Given the description of an element on the screen output the (x, y) to click on. 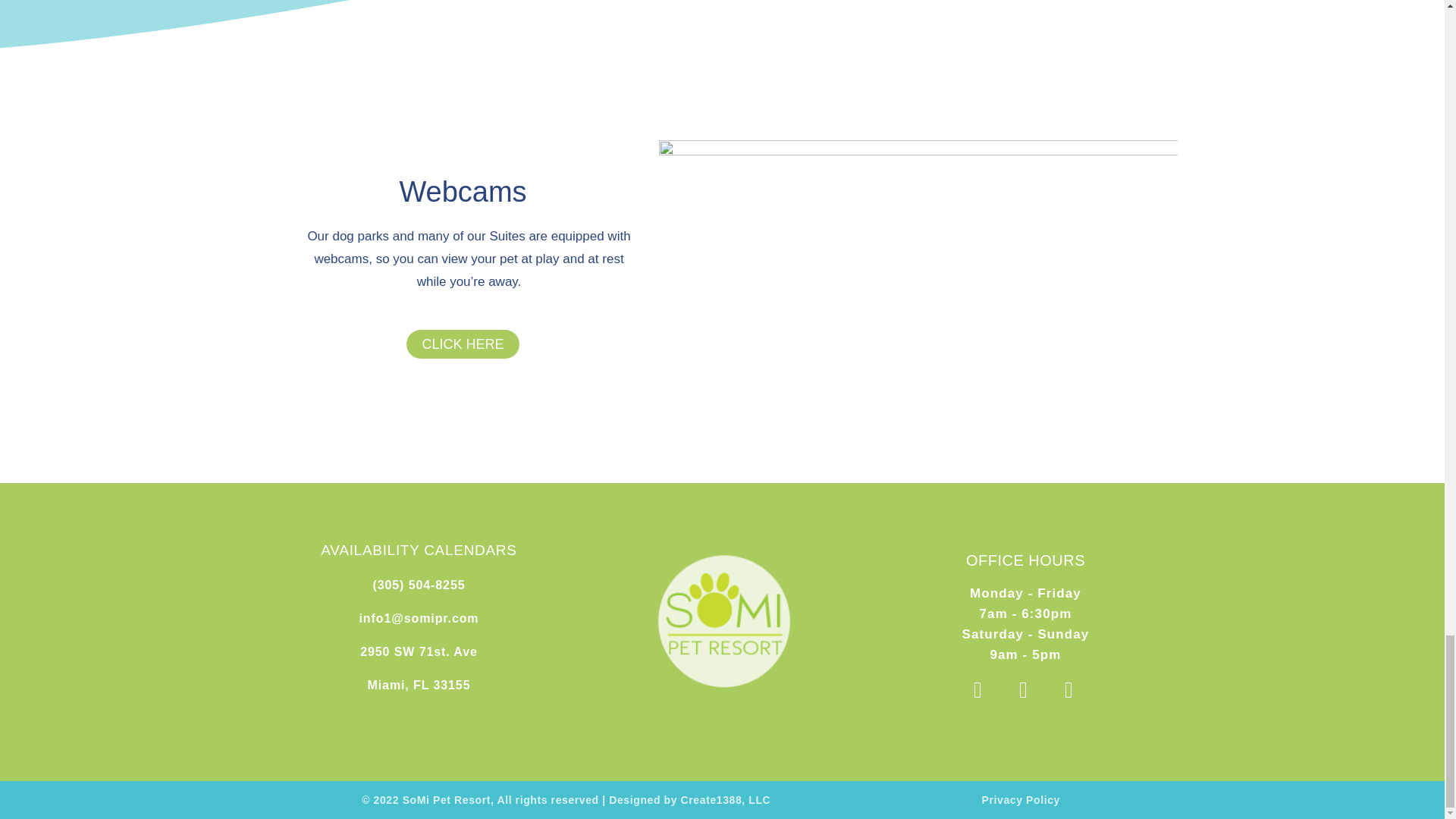
CLICK HERE (462, 344)
Facebook-f (1025, 691)
Youtube (1070, 691)
Instagram (979, 691)
Privacy Policy (1020, 799)
AVAILABILITY CALENDARS (418, 550)
